Given the description of an element on the screen output the (x, y) to click on. 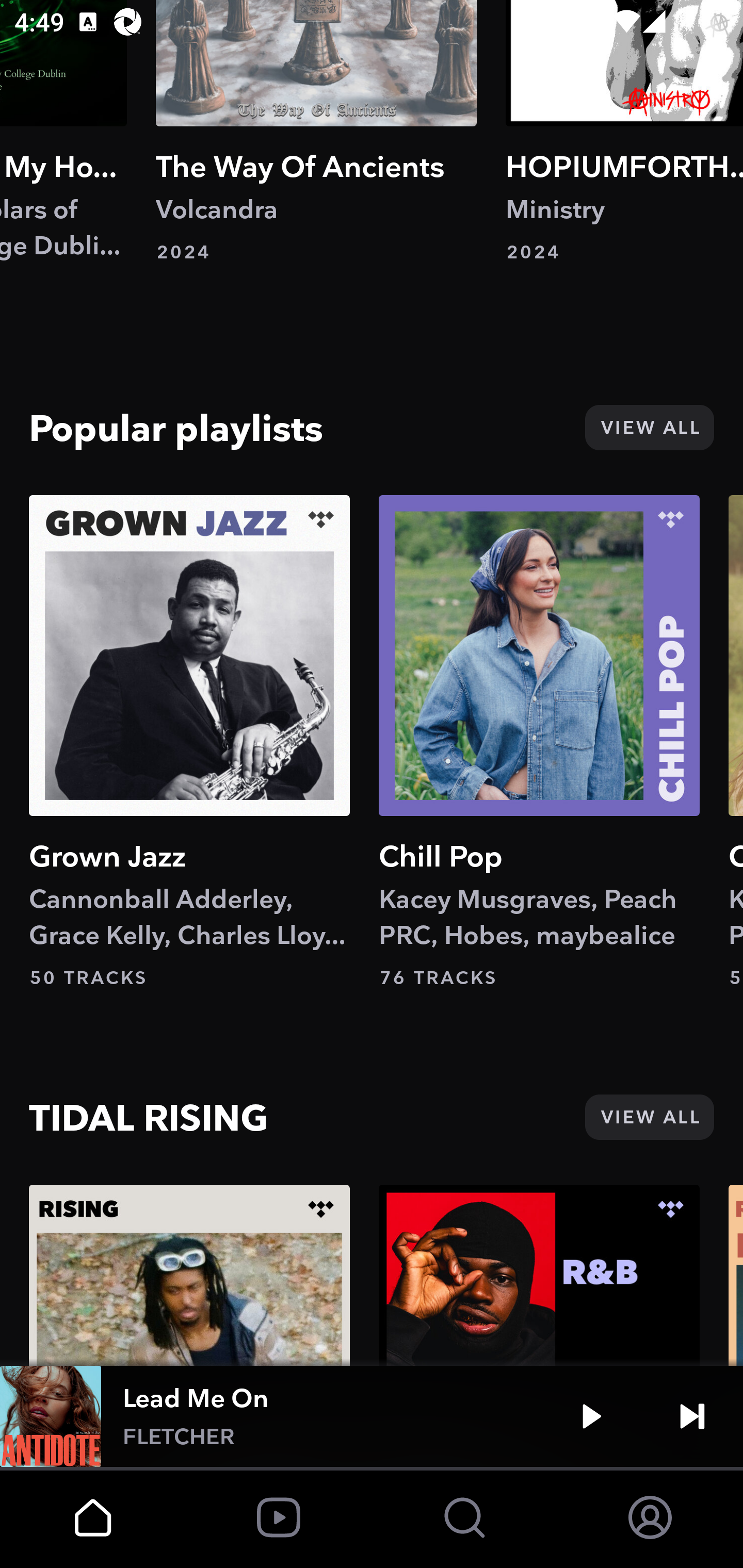
The Way Of Ancients Volcandra 2024 (316, 131)
HOPIUMFORTHEMASSES Ministry 2024 (624, 131)
VIEW ALL (649, 427)
VIEW ALL (649, 1116)
Lead Me On FLETCHER Play (371, 1416)
Play (590, 1416)
